Given the description of an element on the screen output the (x, y) to click on. 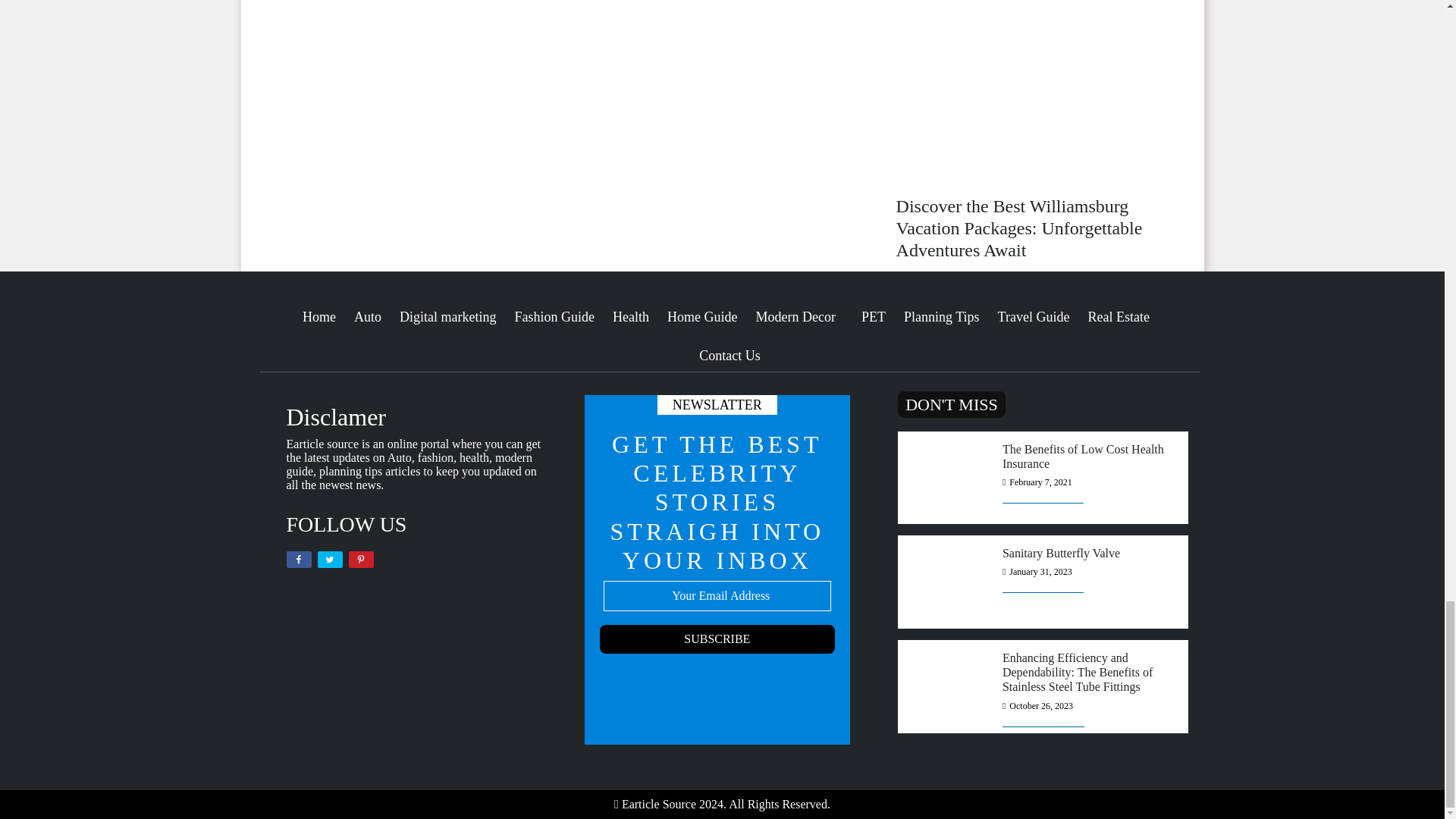
Subscribe (716, 638)
Share on Twitter (329, 559)
Share on Pinterest (361, 559)
Share on Facebook (298, 559)
